Given the description of an element on the screen output the (x, y) to click on. 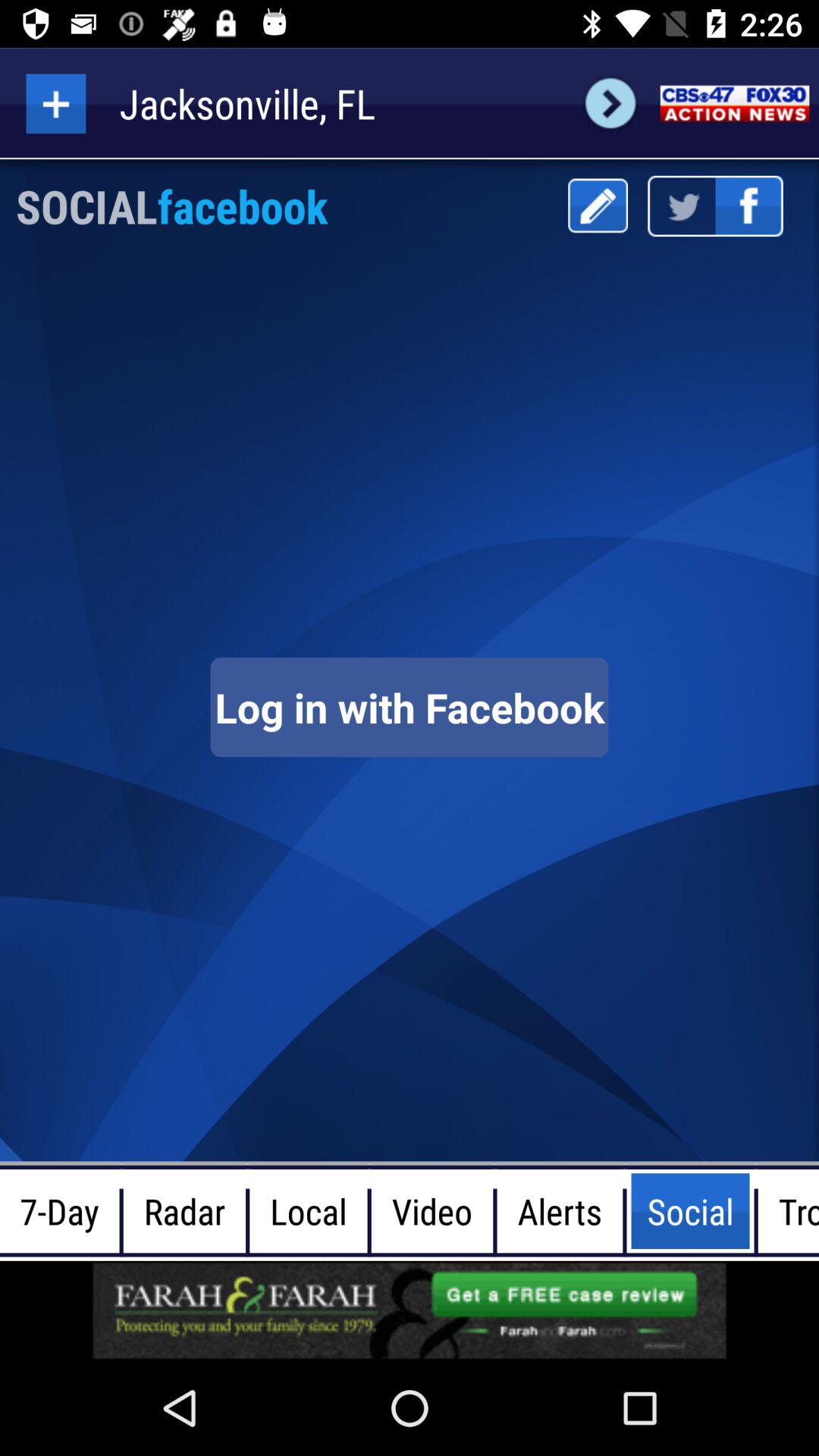
add more (55, 103)
